Given the description of an element on the screen output the (x, y) to click on. 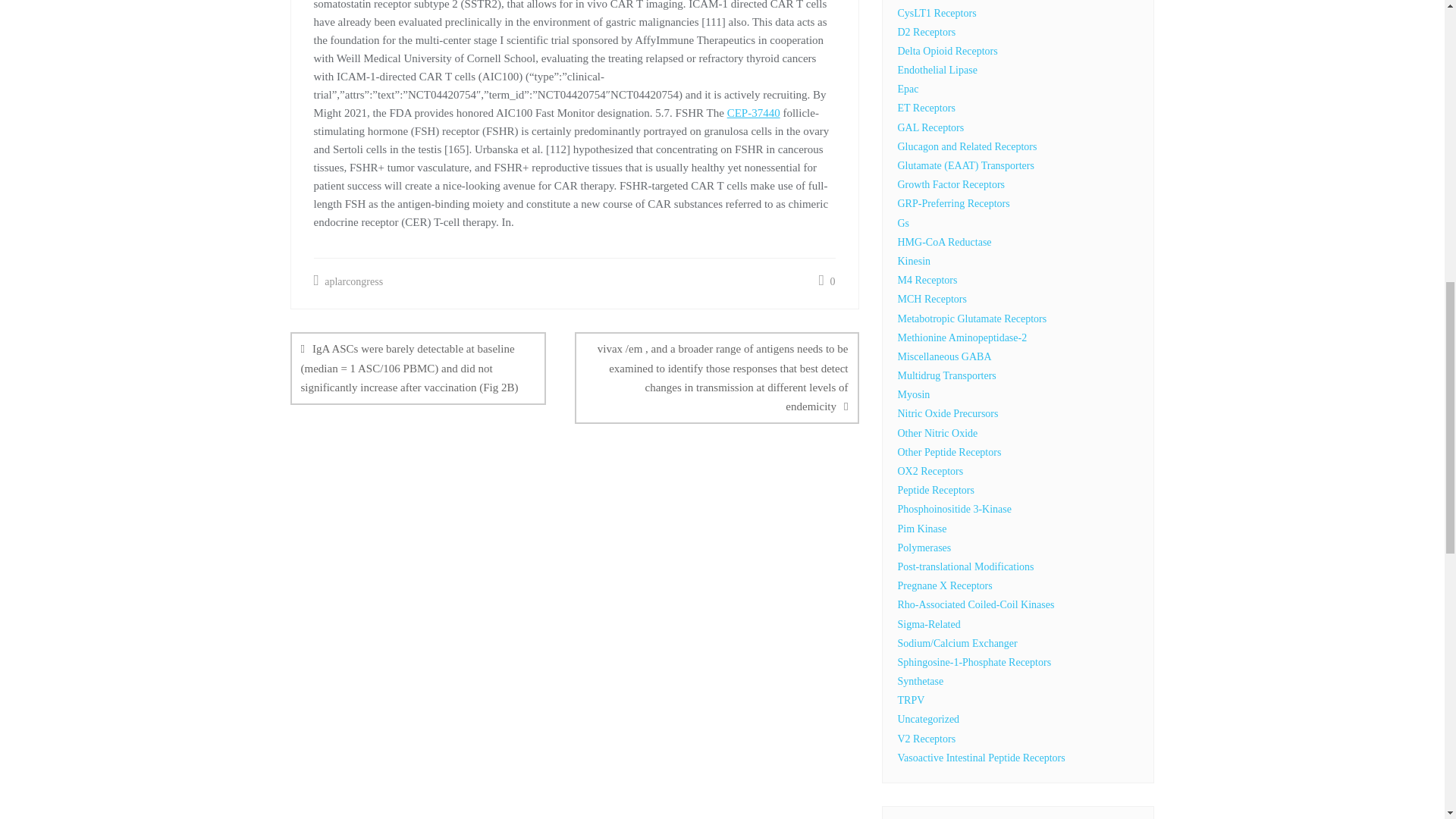
aplarcongress (349, 281)
CEP-37440 (753, 112)
